Given the description of an element on the screen output the (x, y) to click on. 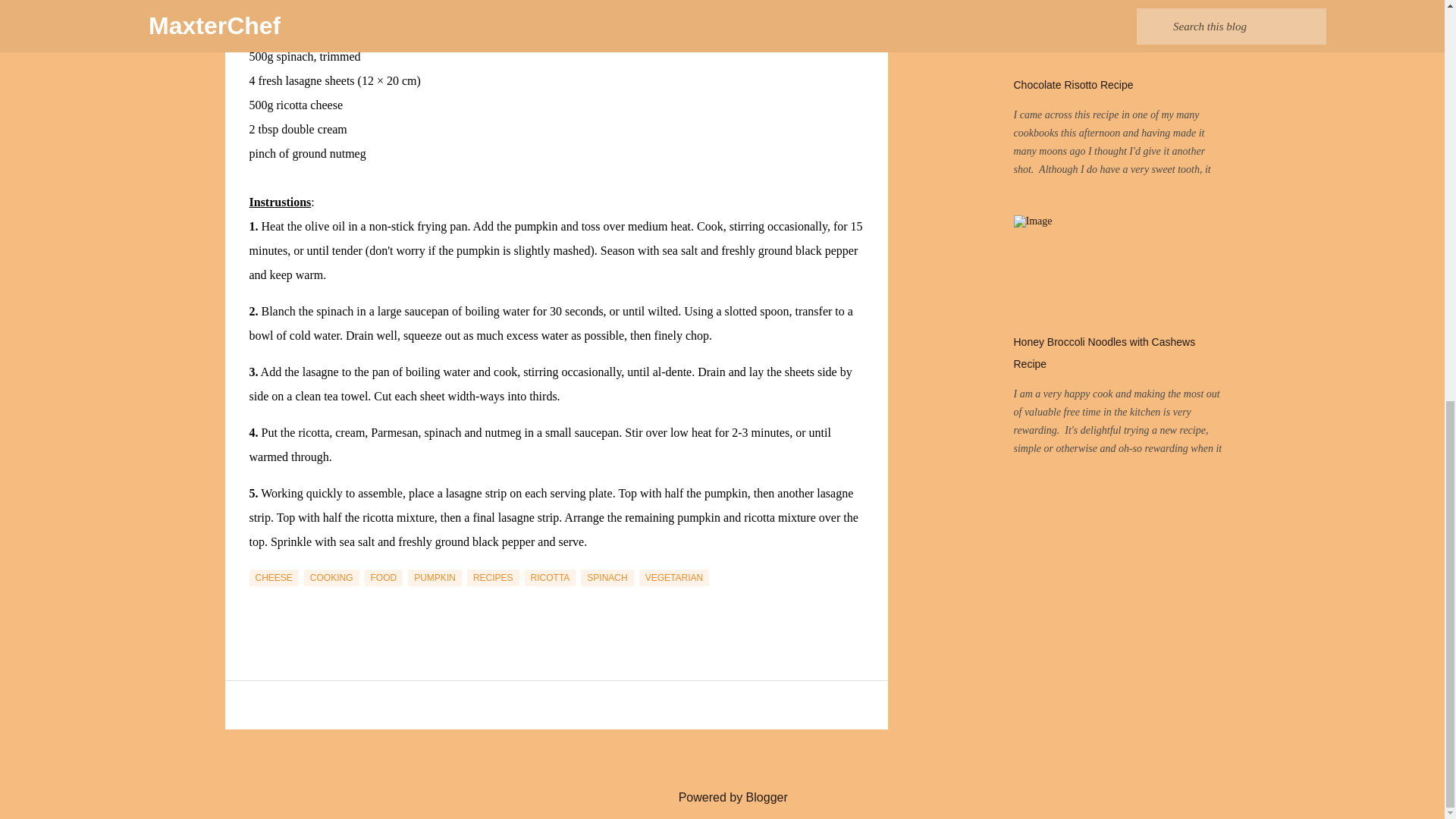
PUMPKIN (434, 577)
COOKING (331, 577)
Chocolate Risotto Recipe (1072, 84)
SPINACH (606, 577)
VEGETARIAN (674, 577)
RECIPES (493, 577)
RICOTTA (550, 577)
Honey Broccoli Noodles with Cashews Recipe (1104, 352)
FOOD (384, 577)
CHEESE (273, 577)
